Given the description of an element on the screen output the (x, y) to click on. 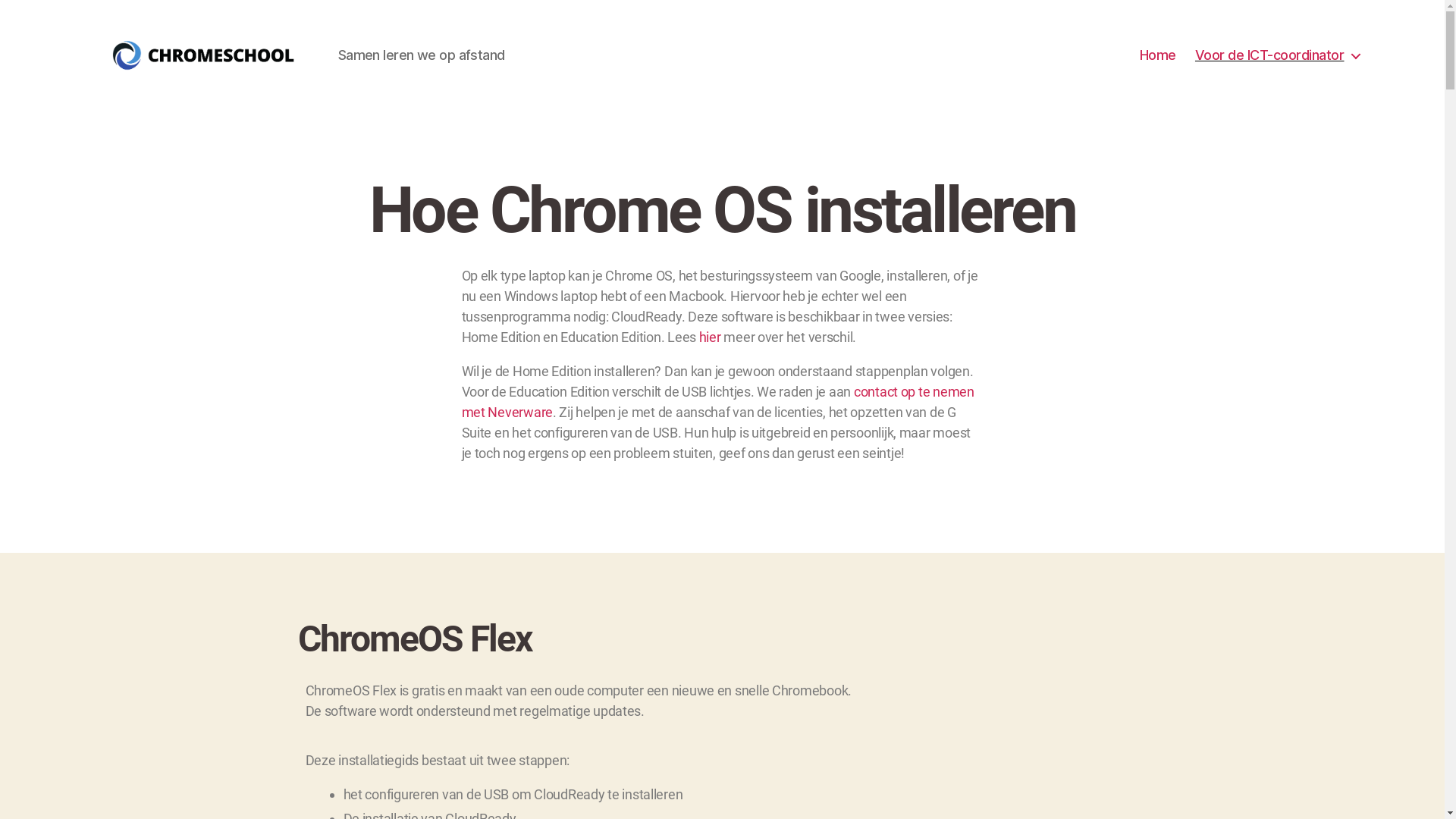
hier Element type: text (710, 337)
Voor de ICT-coordinator Element type: text (1277, 55)
Home Element type: text (1157, 55)
contact op te nemen met Neverware Element type: text (717, 401)
